Given the description of an element on the screen output the (x, y) to click on. 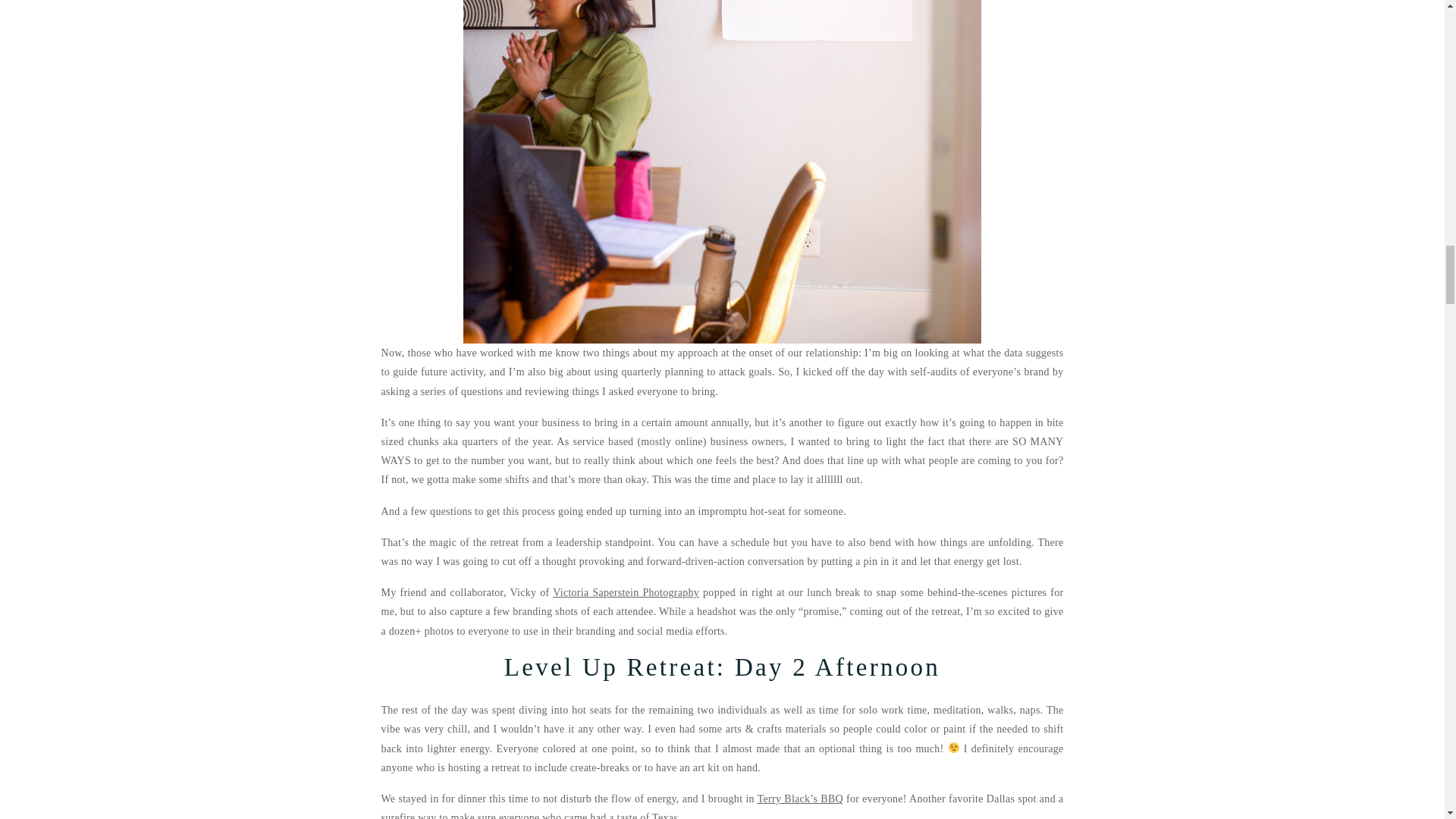
Victoria Saperstein Photography (625, 592)
